Given the description of an element on the screen output the (x, y) to click on. 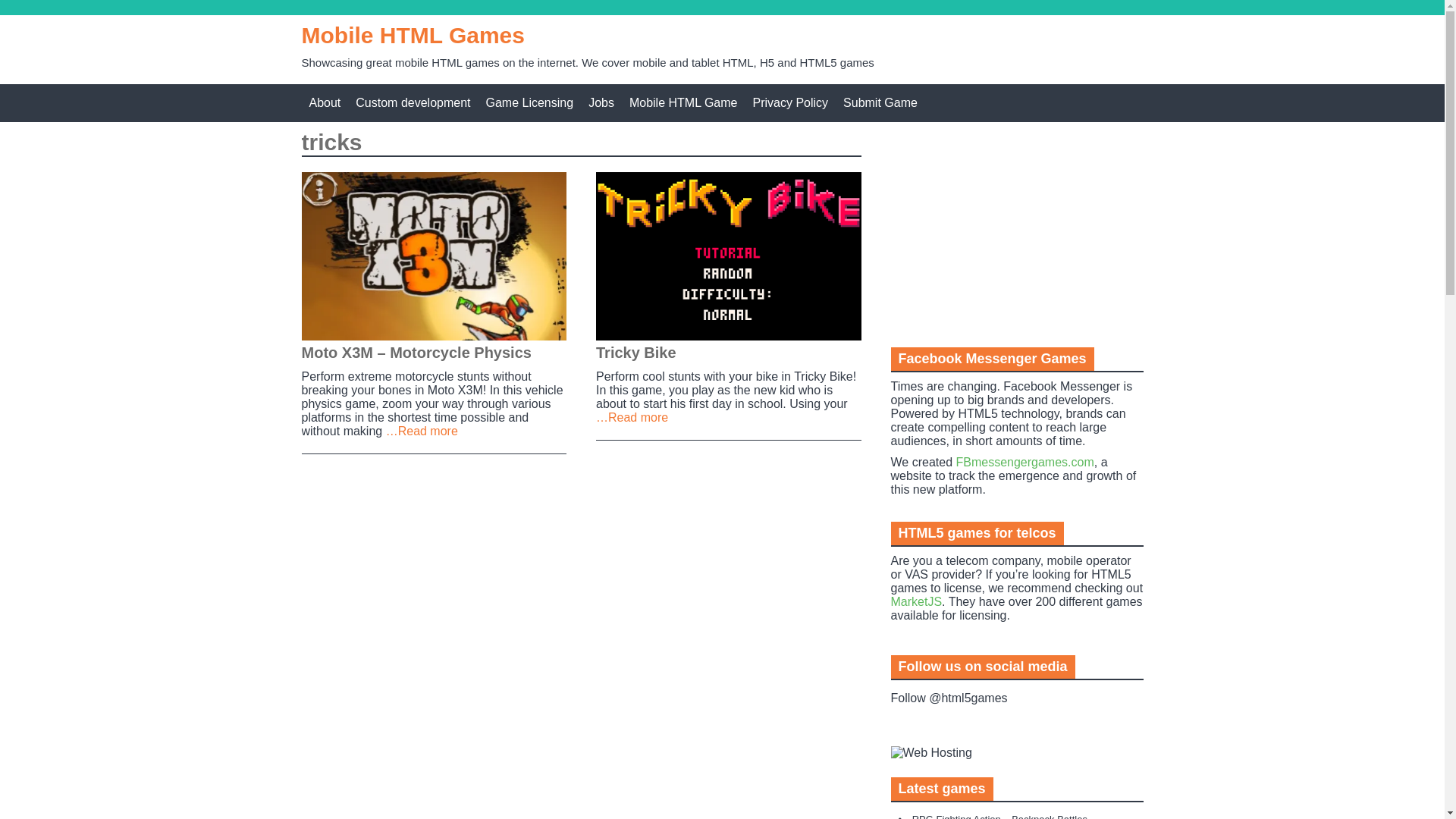
Game Licensing (528, 103)
Submit Game (879, 103)
Privacy Policy (789, 103)
FBmessengergames.com (1024, 461)
Custom development (412, 103)
Tricky Bike (728, 255)
Advertisement (1003, 231)
Tricky Bike (636, 352)
Jobs (600, 103)
Mobile HTML Game (683, 103)
